Given the description of an element on the screen output the (x, y) to click on. 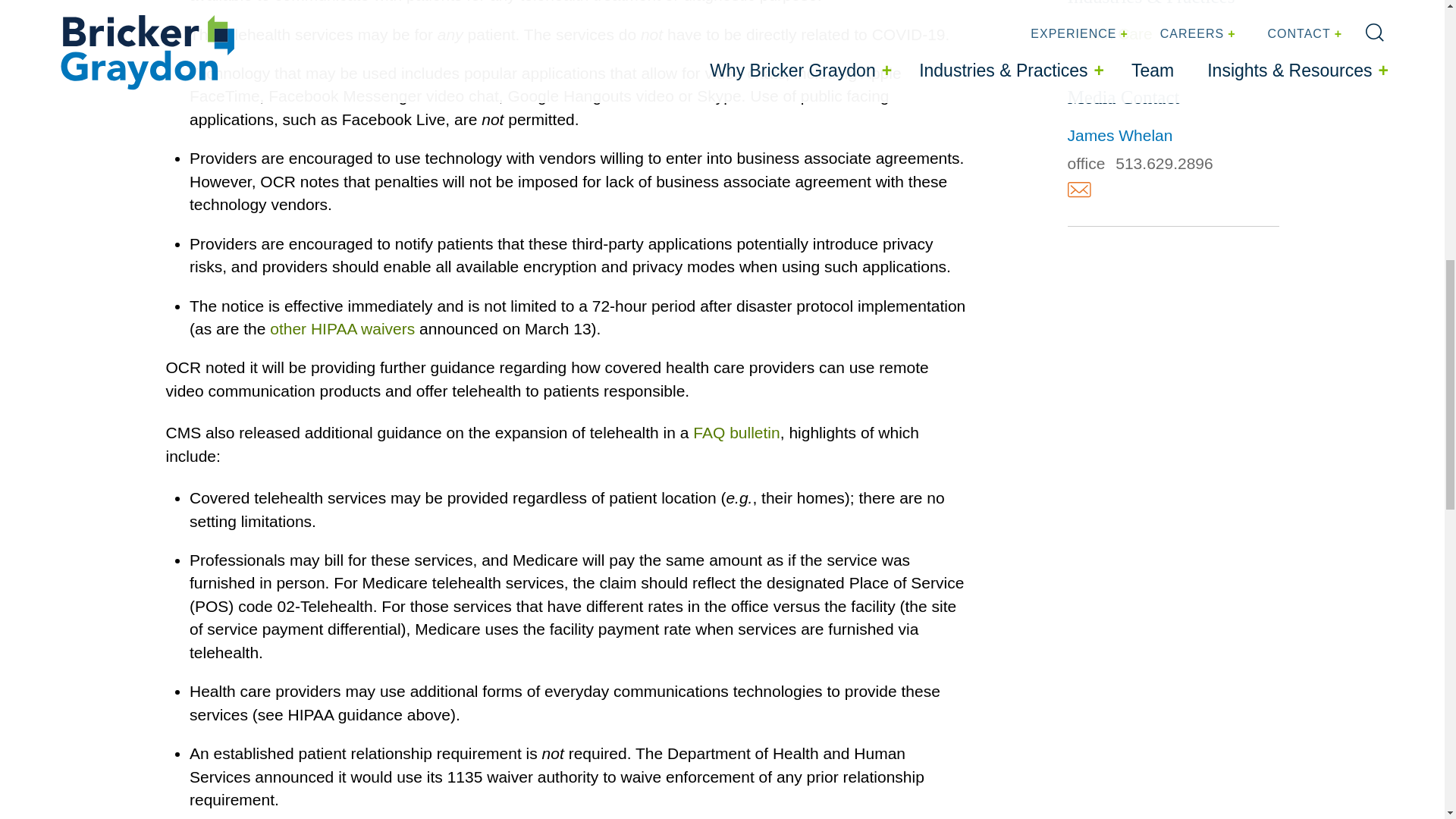
Email (1078, 189)
